Given the description of an element on the screen output the (x, y) to click on. 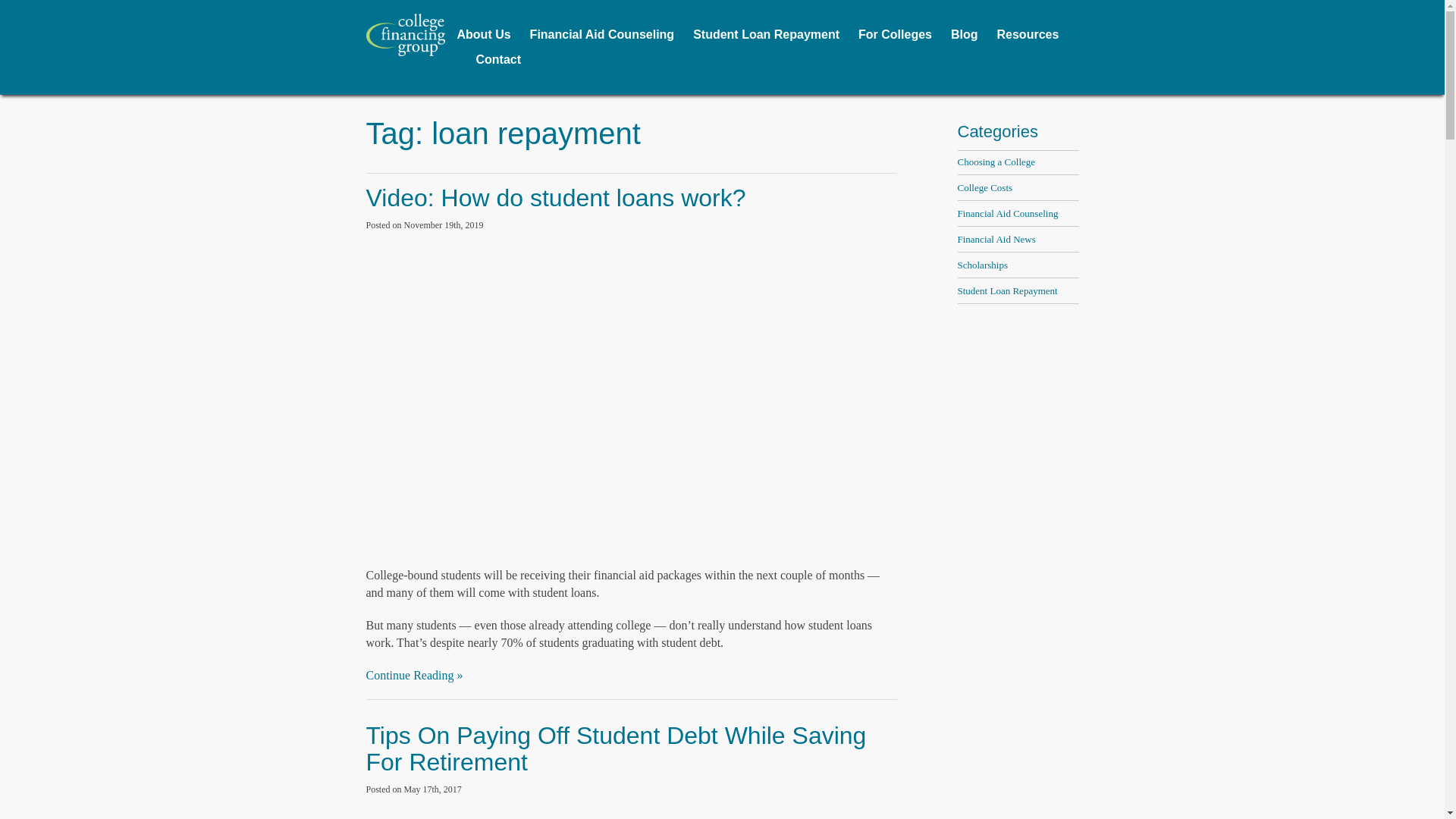
College Costs (983, 187)
Read more (615, 748)
About Us (484, 33)
Blog (964, 33)
View all posts filed under Student Loan Repayment (1006, 290)
Financial Aid Counseling (1007, 213)
View all posts filed under Scholarships (981, 265)
Student Loan Repayment (766, 33)
Read more (555, 197)
View all posts filed under Choosing a College (995, 161)
For Colleges (895, 33)
View all posts filed under Financial Aid Counseling (1007, 213)
View all posts filed under Financial Aid News (995, 238)
Financial Aid Counseling (602, 33)
Financial Aid News (995, 238)
